Given the description of an element on the screen output the (x, y) to click on. 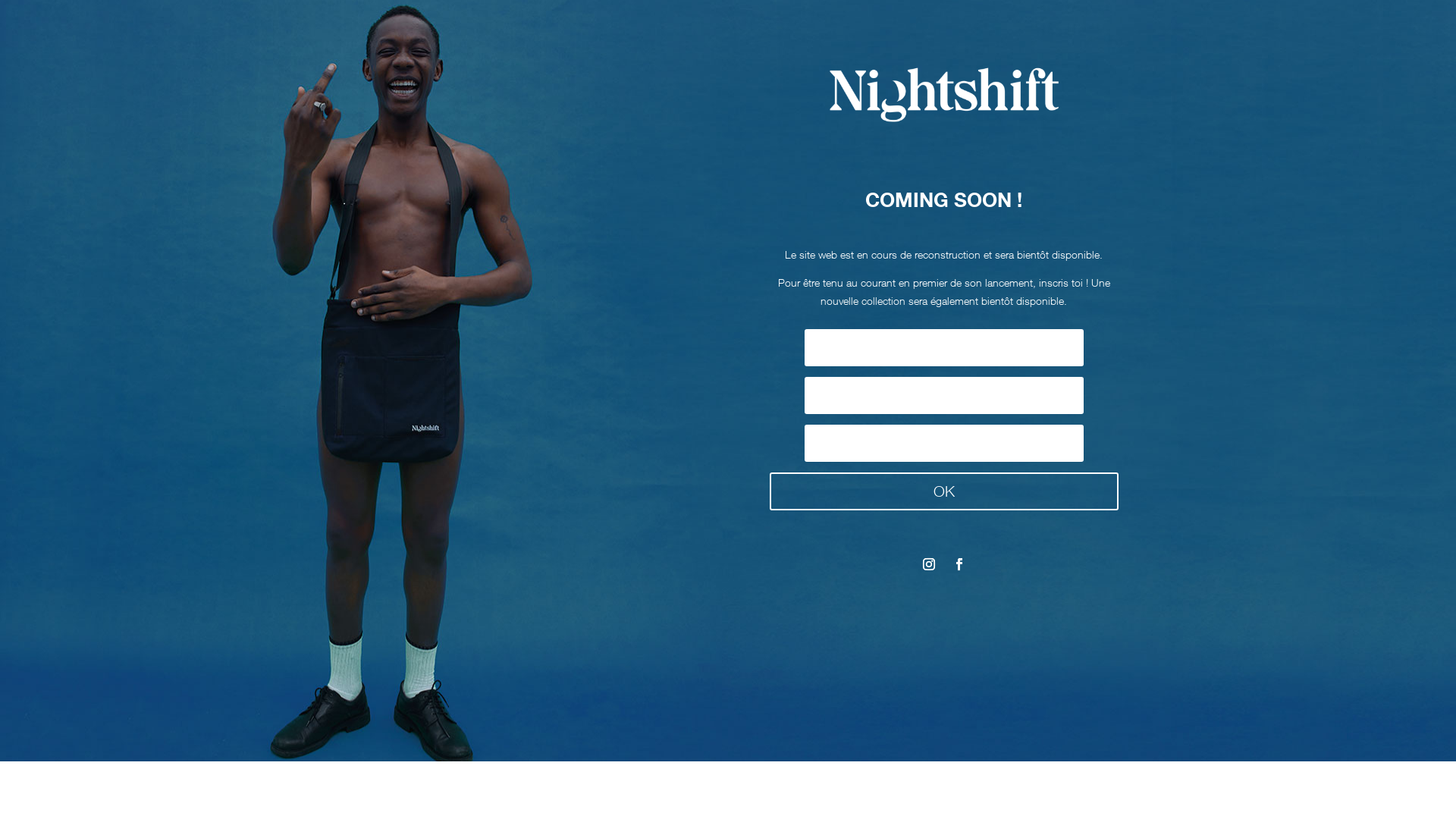
Suivez sur Instagram Element type: hover (928, 564)
Suivez sur Facebook Element type: hover (959, 564)
OK Element type: text (943, 491)
Logo NightShift Element type: hover (943, 93)
